Given the description of an element on the screen output the (x, y) to click on. 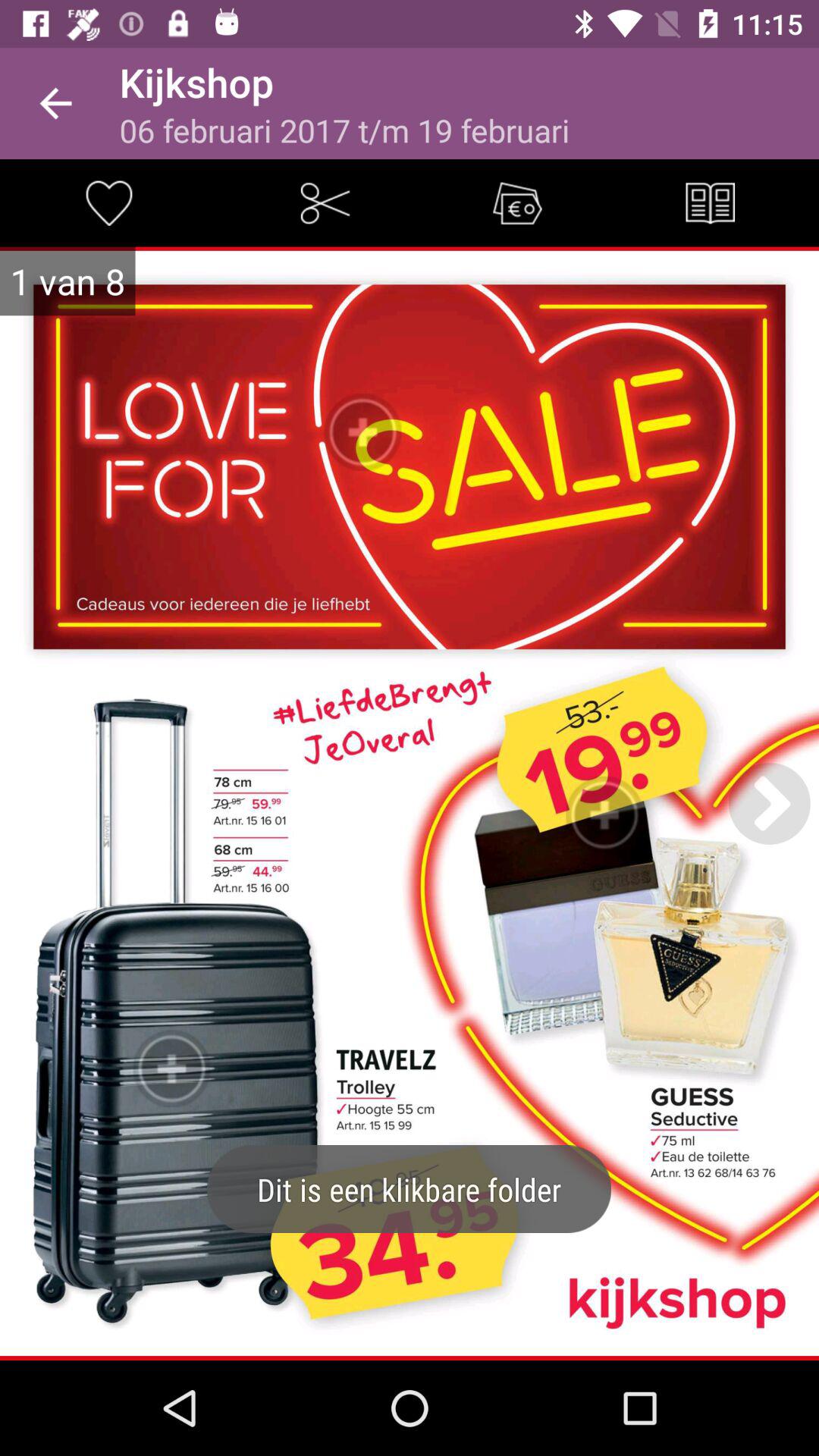
like this product (108, 202)
